Given the description of an element on the screen output the (x, y) to click on. 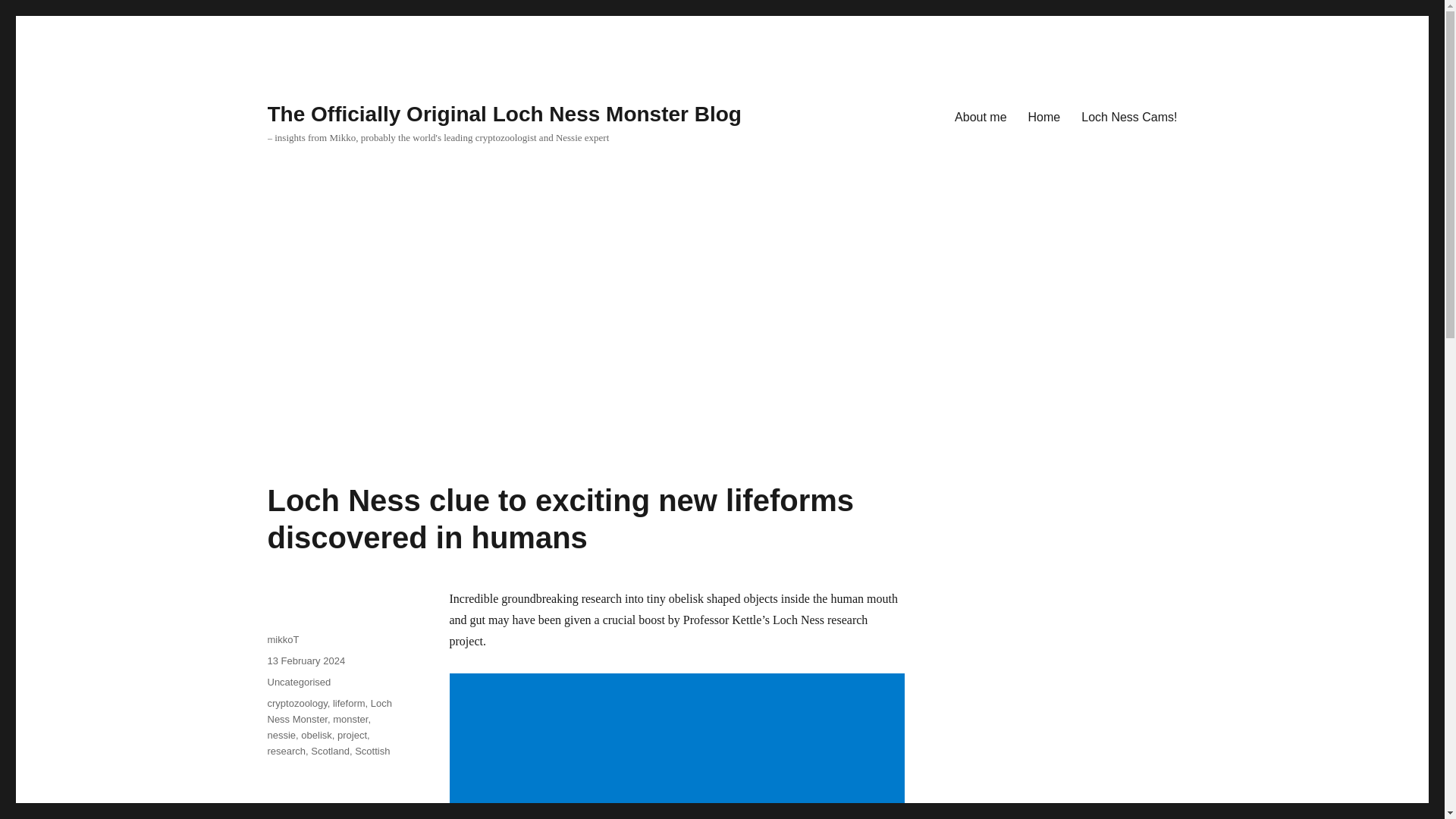
The Officially Original Loch Ness Monster Blog (503, 114)
Loch Ness Cams! (1129, 116)
13 February 2024 (305, 660)
monster (350, 718)
Loch Ness Monster (328, 710)
Uncategorised (298, 681)
project (351, 735)
research (285, 750)
Scottish (372, 750)
About me (979, 116)
